Given the description of an element on the screen output the (x, y) to click on. 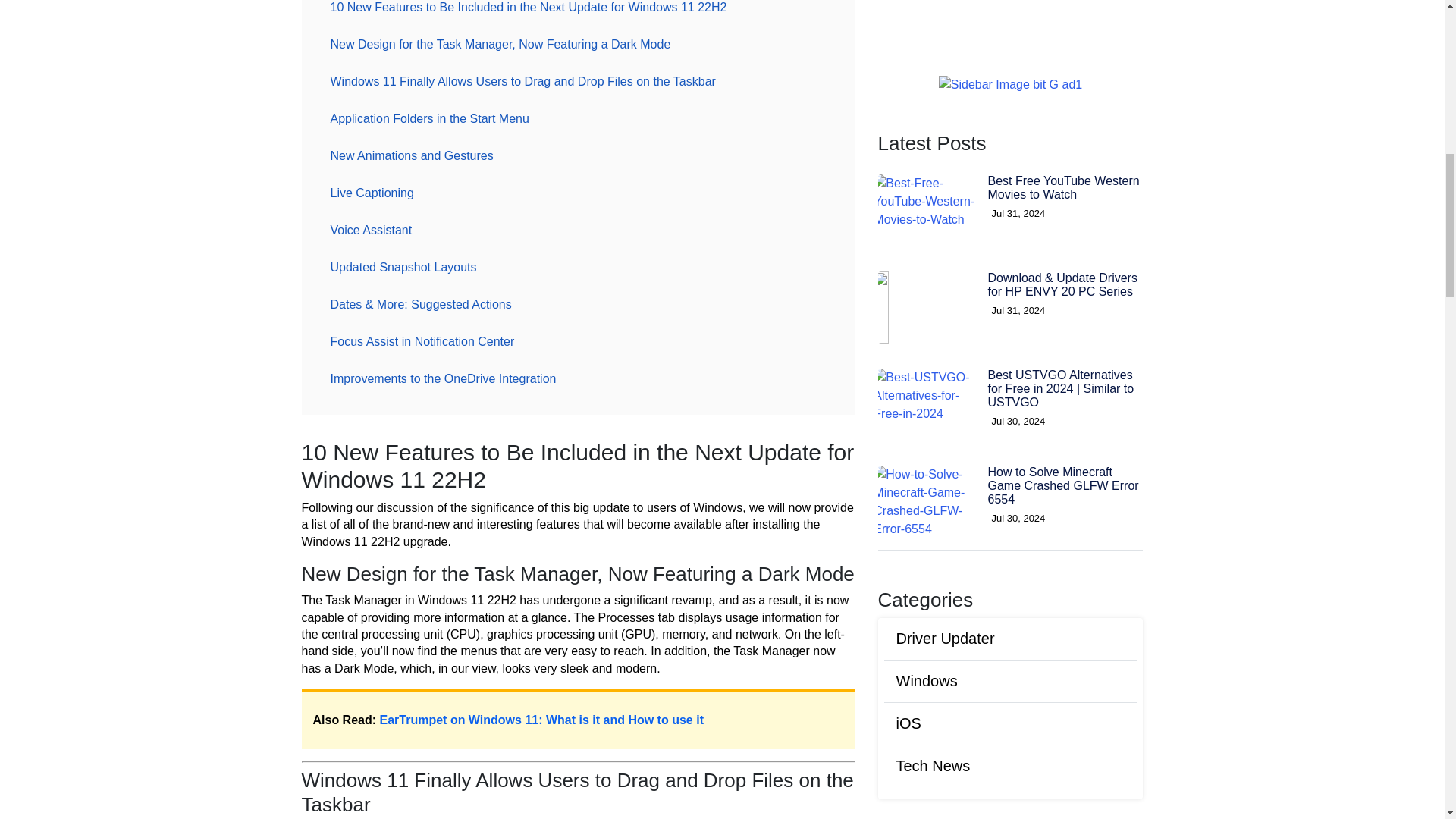
Improvements to the OneDrive Integration (443, 378)
Subscribe Now (1010, 662)
Focus Assist in Notification Center (422, 341)
New Animations and Gestures (411, 155)
New Design for the Task Manager, Now Featuring a Dark Mode (500, 44)
Live Captioning (372, 193)
Voice Assistant (371, 230)
Application Folders in the Start Menu (430, 118)
